Given the description of an element on the screen output the (x, y) to click on. 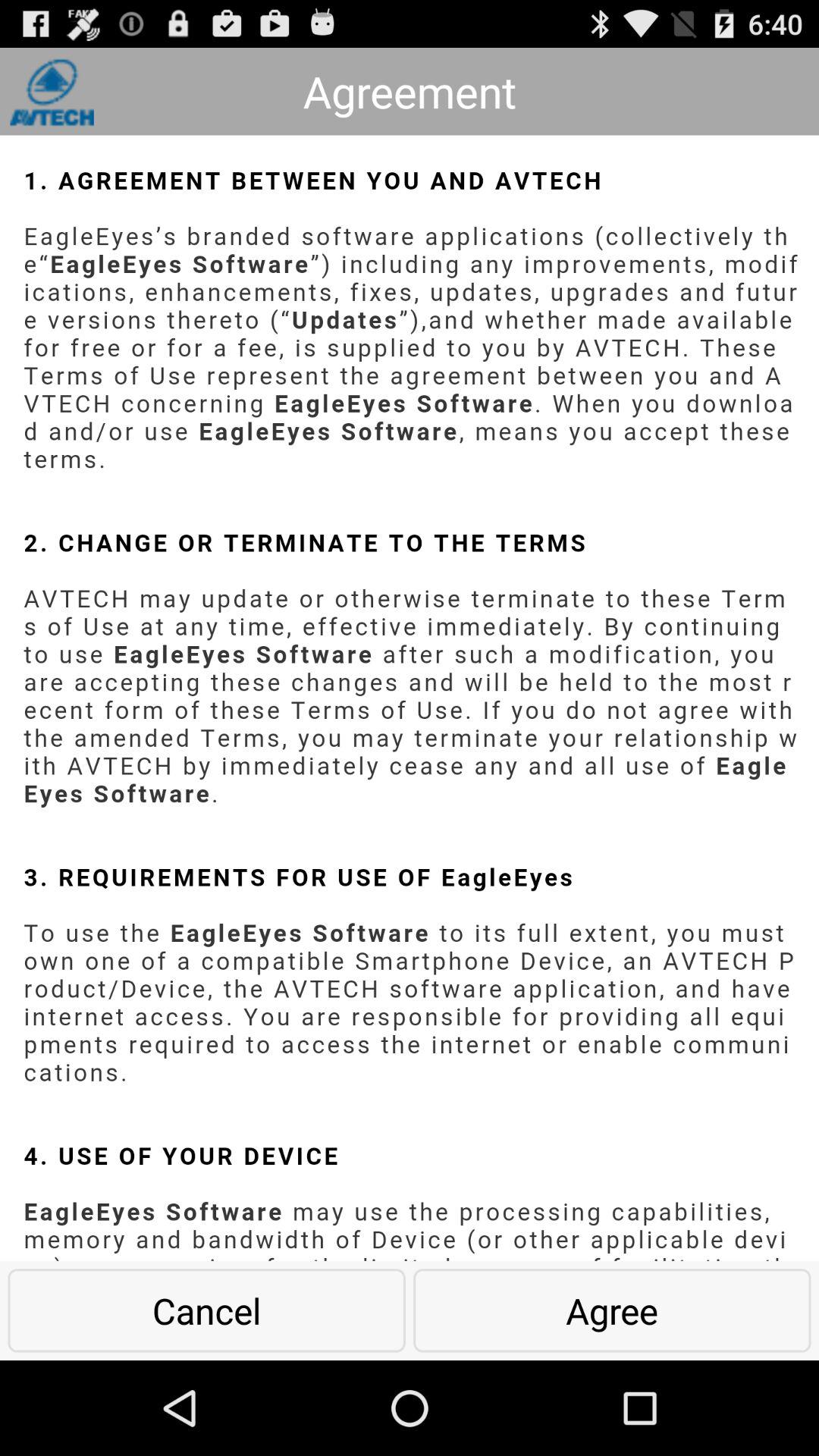
file (409, 697)
